Given the description of an element on the screen output the (x, y) to click on. 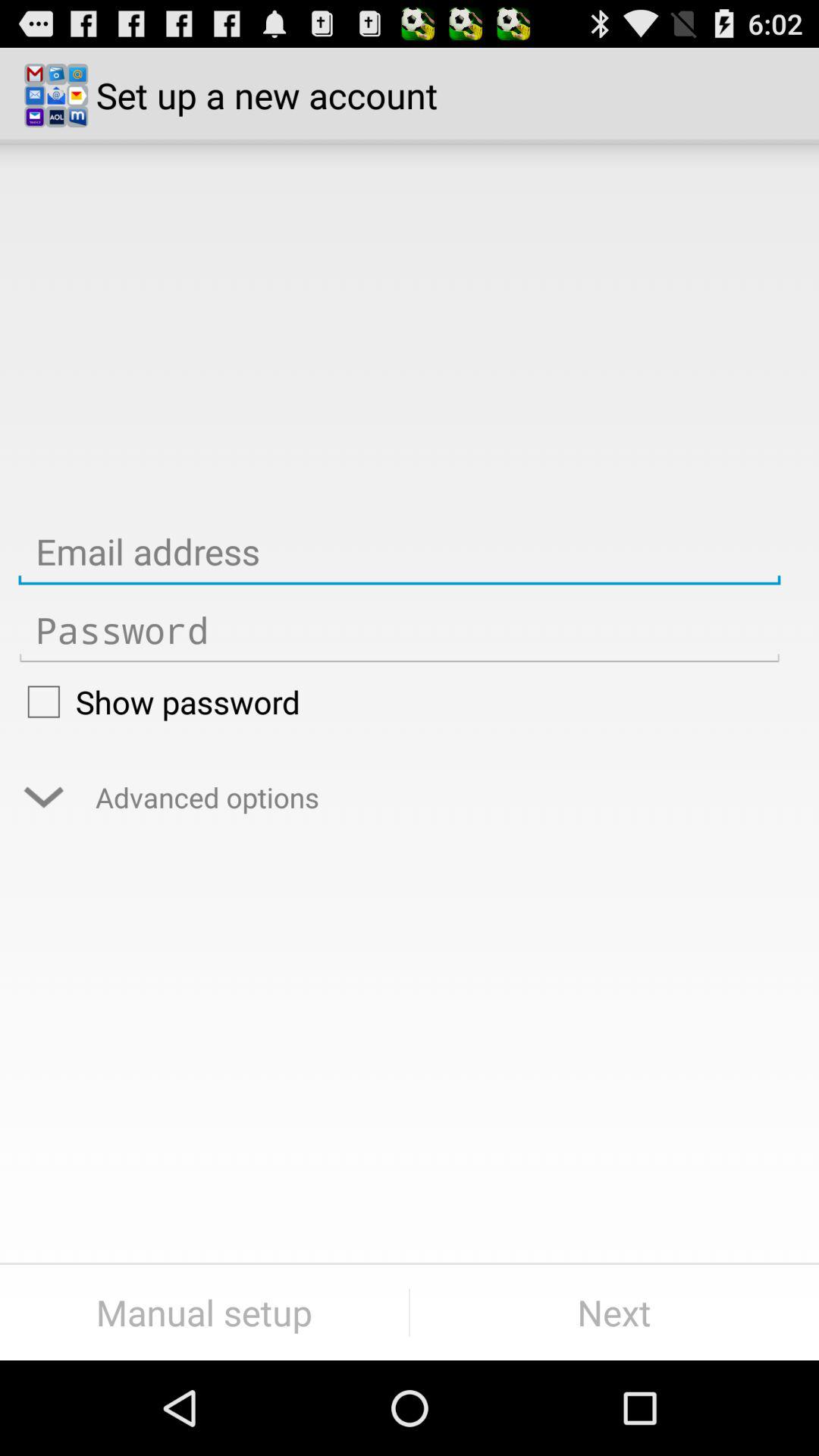
choose the button next to the next item (204, 1312)
